Given the description of an element on the screen output the (x, y) to click on. 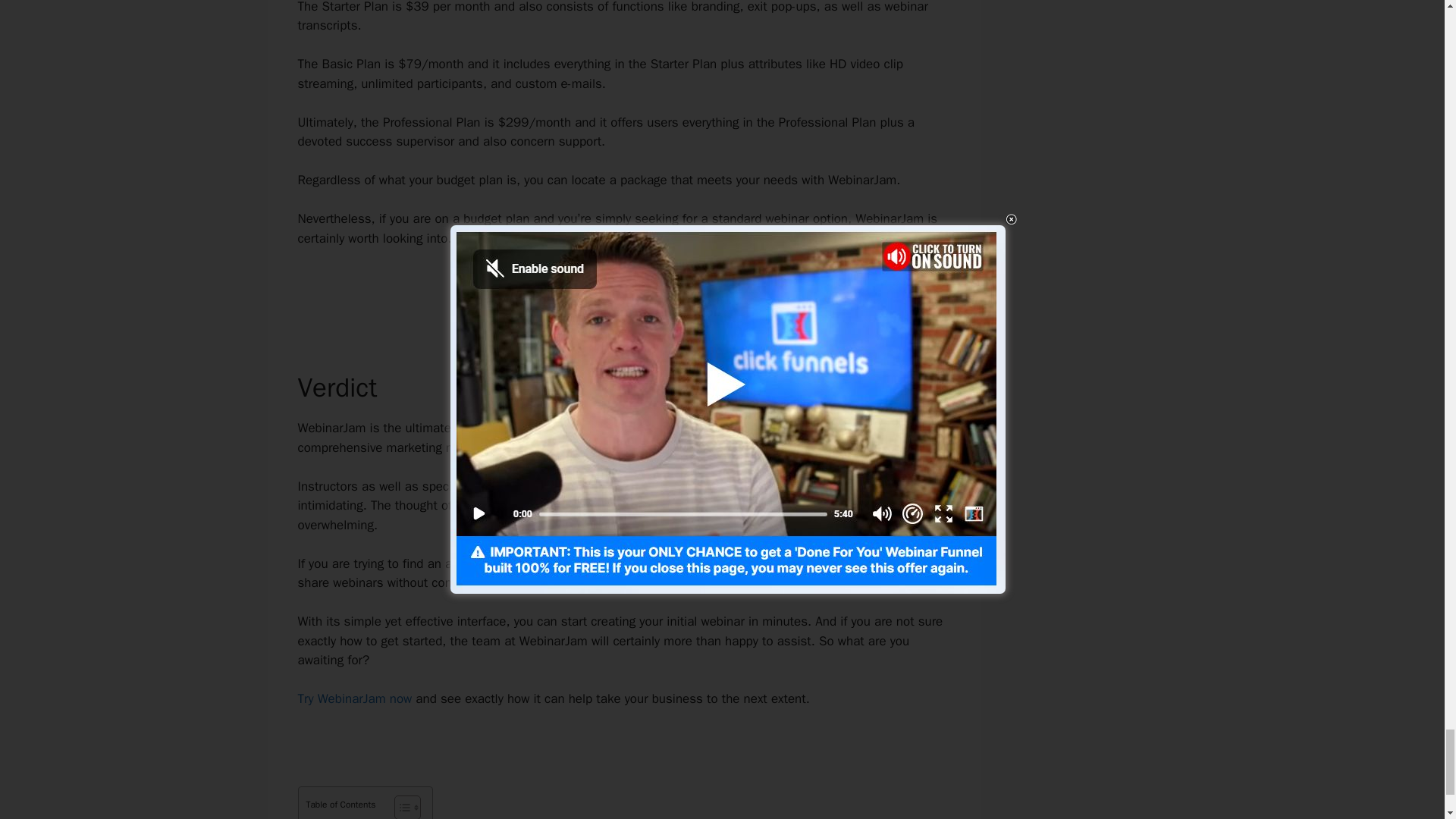
Test Drive WebinarJam For 14 Day Today (623, 291)
Try WebinarJam now (354, 698)
webinar software program (573, 563)
